Given the description of an element on the screen output the (x, y) to click on. 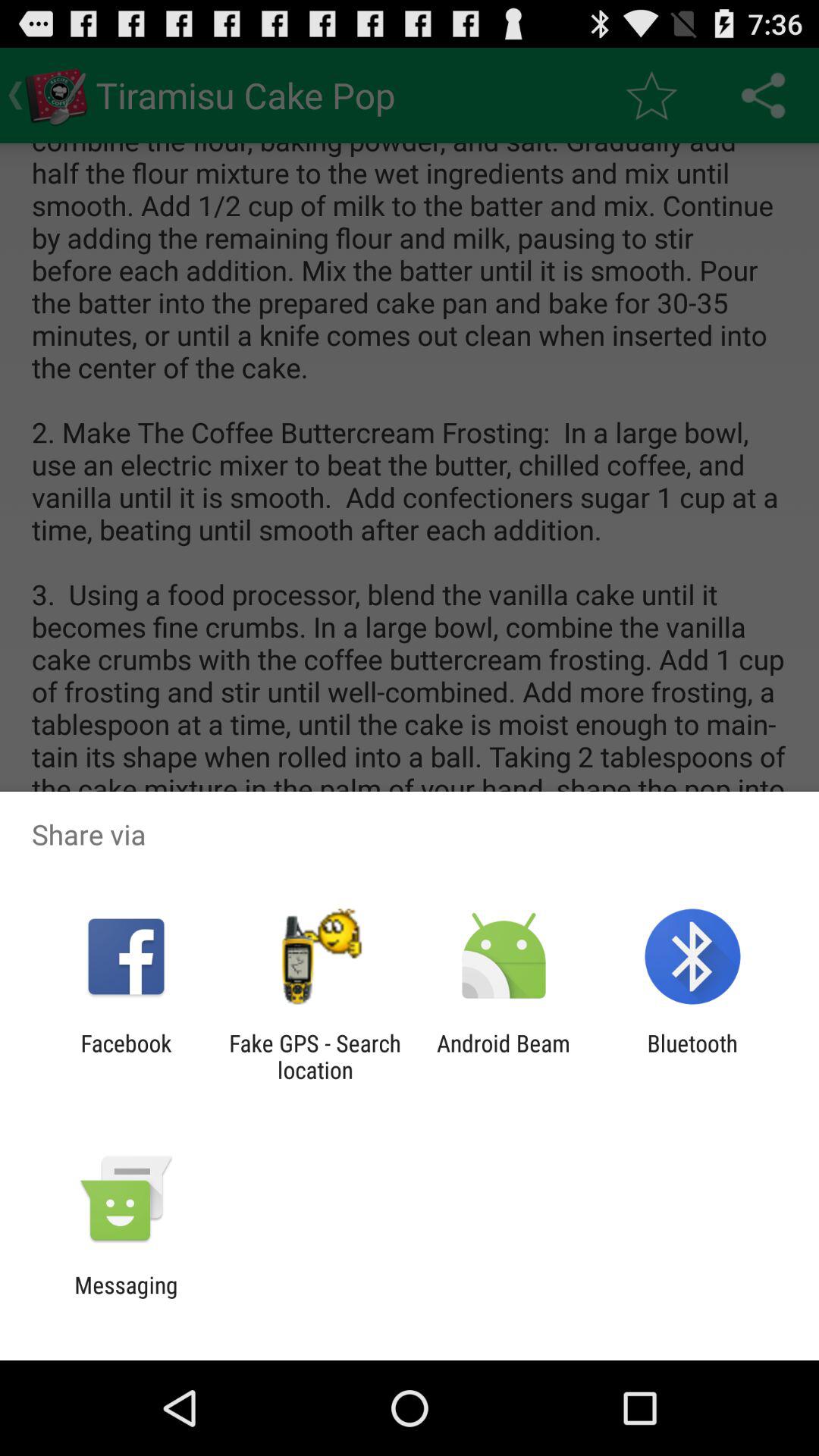
scroll to bluetooth app (692, 1056)
